Given the description of an element on the screen output the (x, y) to click on. 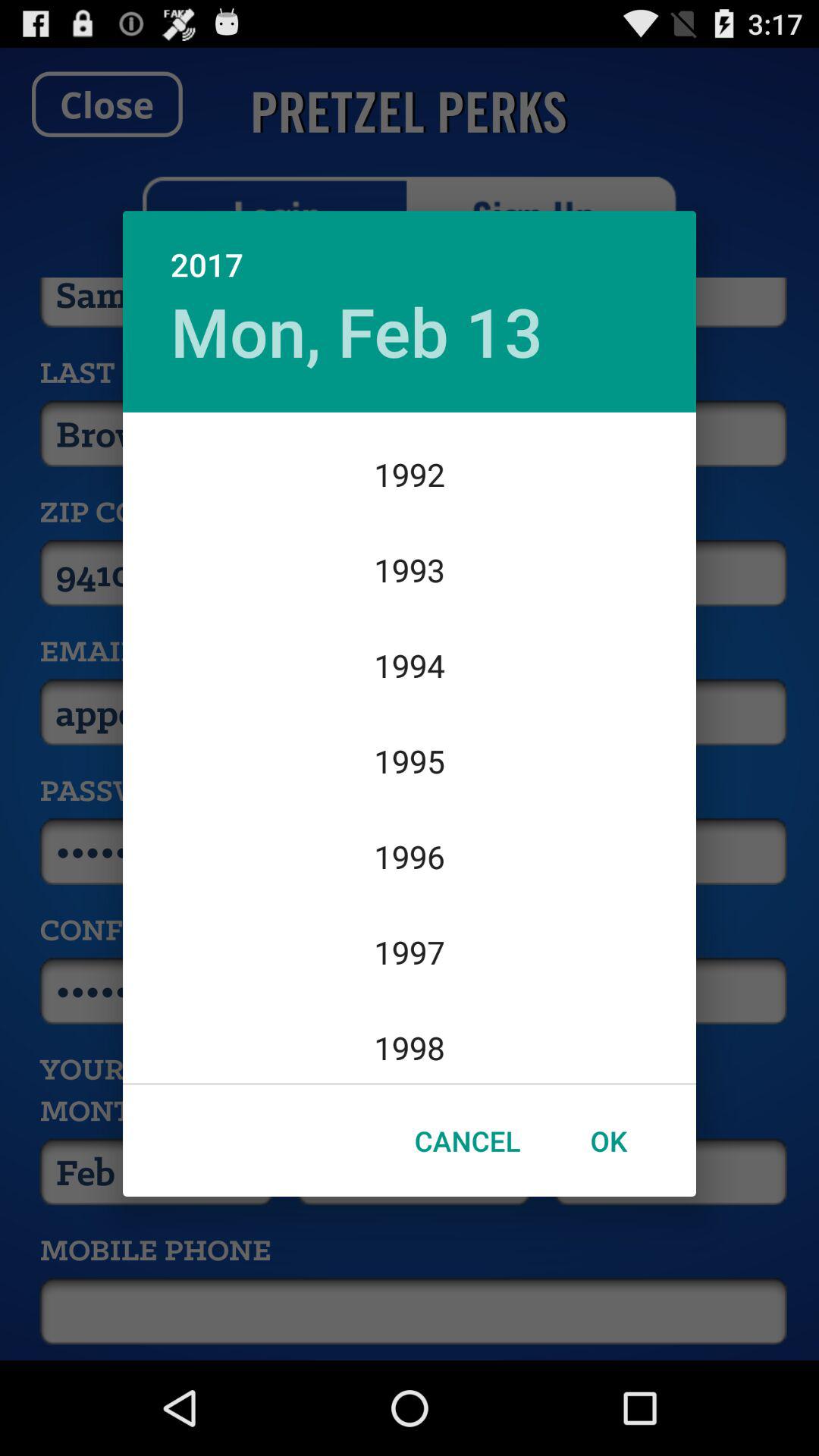
swipe to the ok icon (608, 1140)
